Given the description of an element on the screen output the (x, y) to click on. 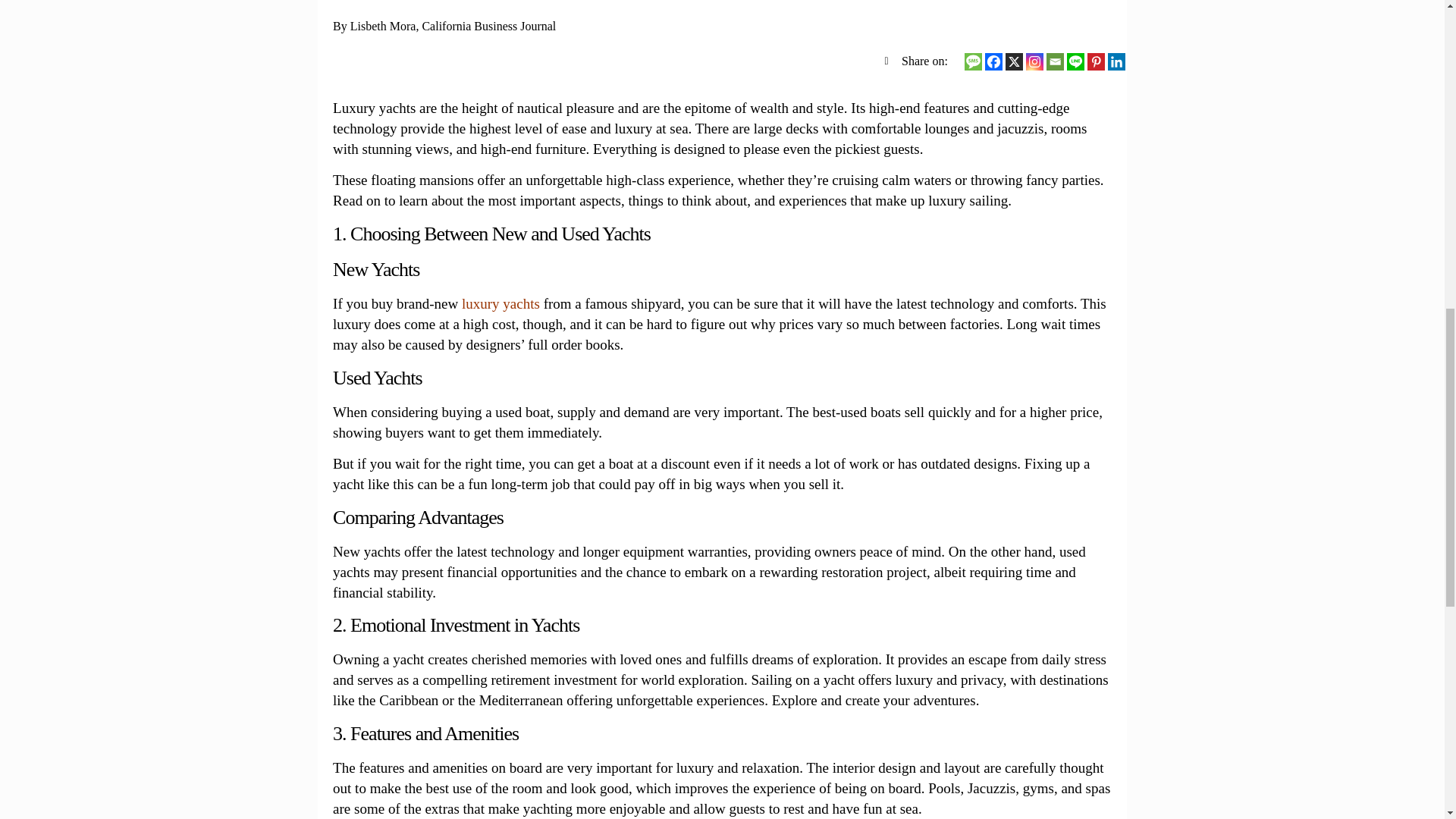
Linkedin (1116, 61)
Facebook (994, 61)
Line (1075, 61)
Pinterest (1096, 61)
SMS (972, 61)
X (1014, 61)
Instagram (1034, 61)
Email (1055, 61)
